Given the description of an element on the screen output the (x, y) to click on. 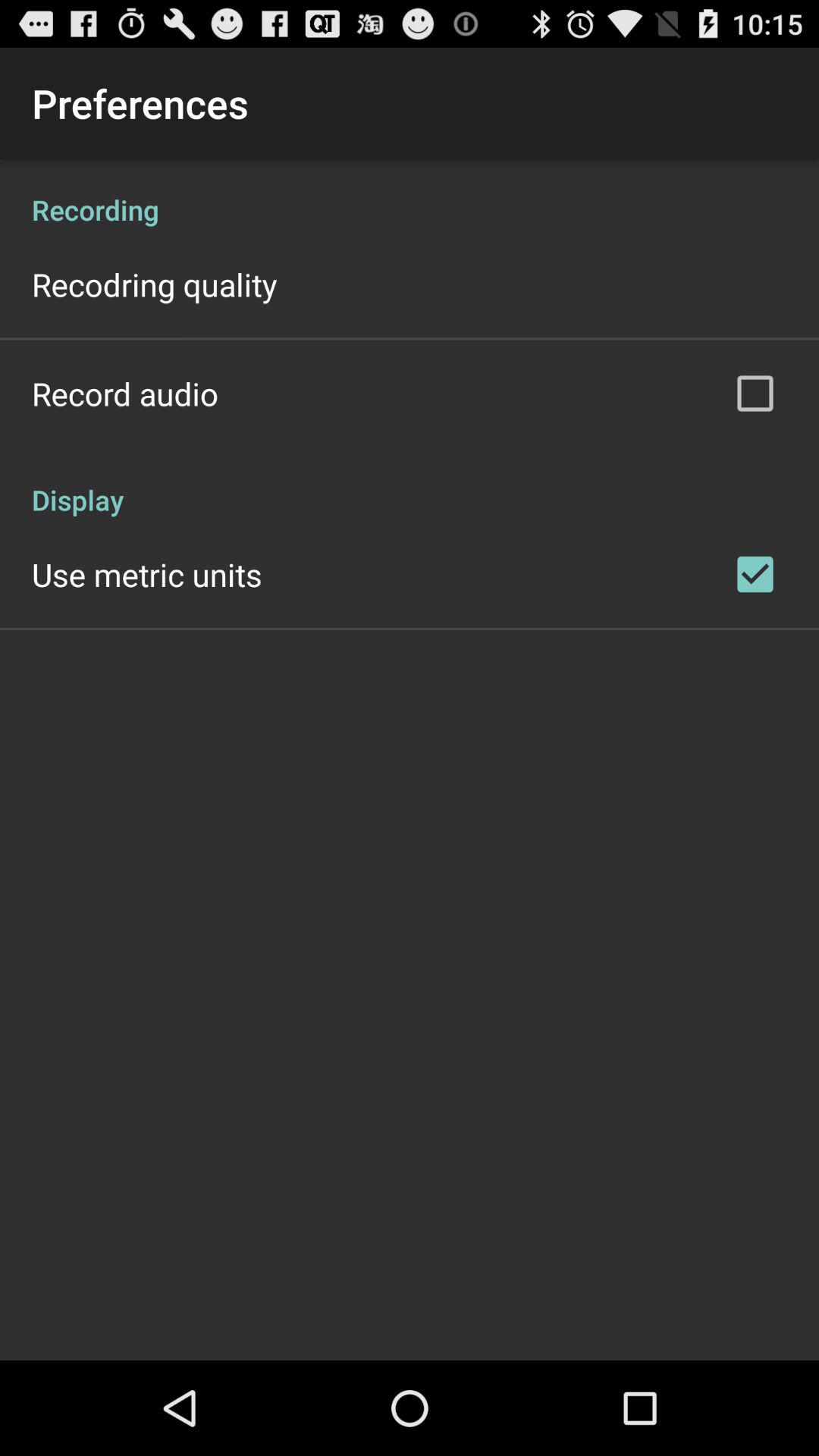
jump to recodring quality app (154, 283)
